Given the description of an element on the screen output the (x, y) to click on. 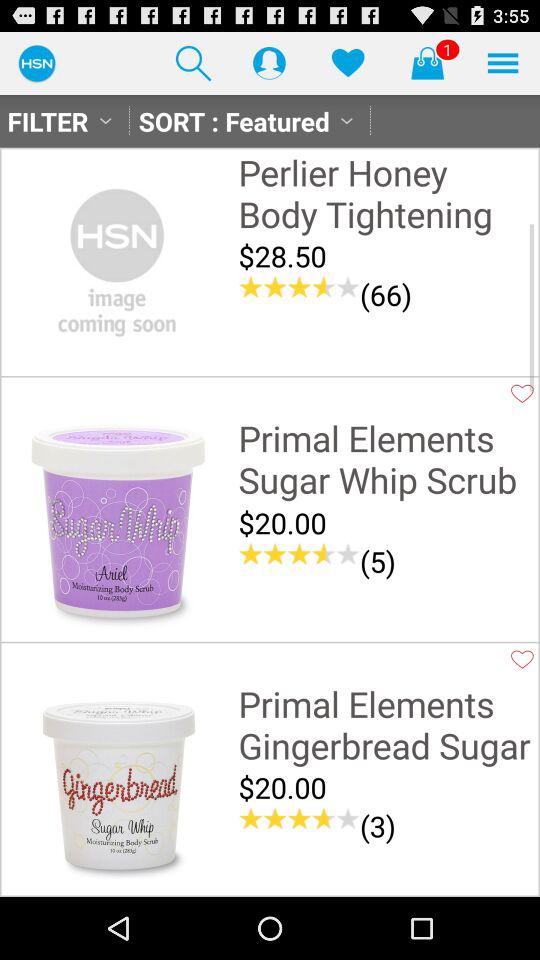
like option (522, 659)
